Given the description of an element on the screen output the (x, y) to click on. 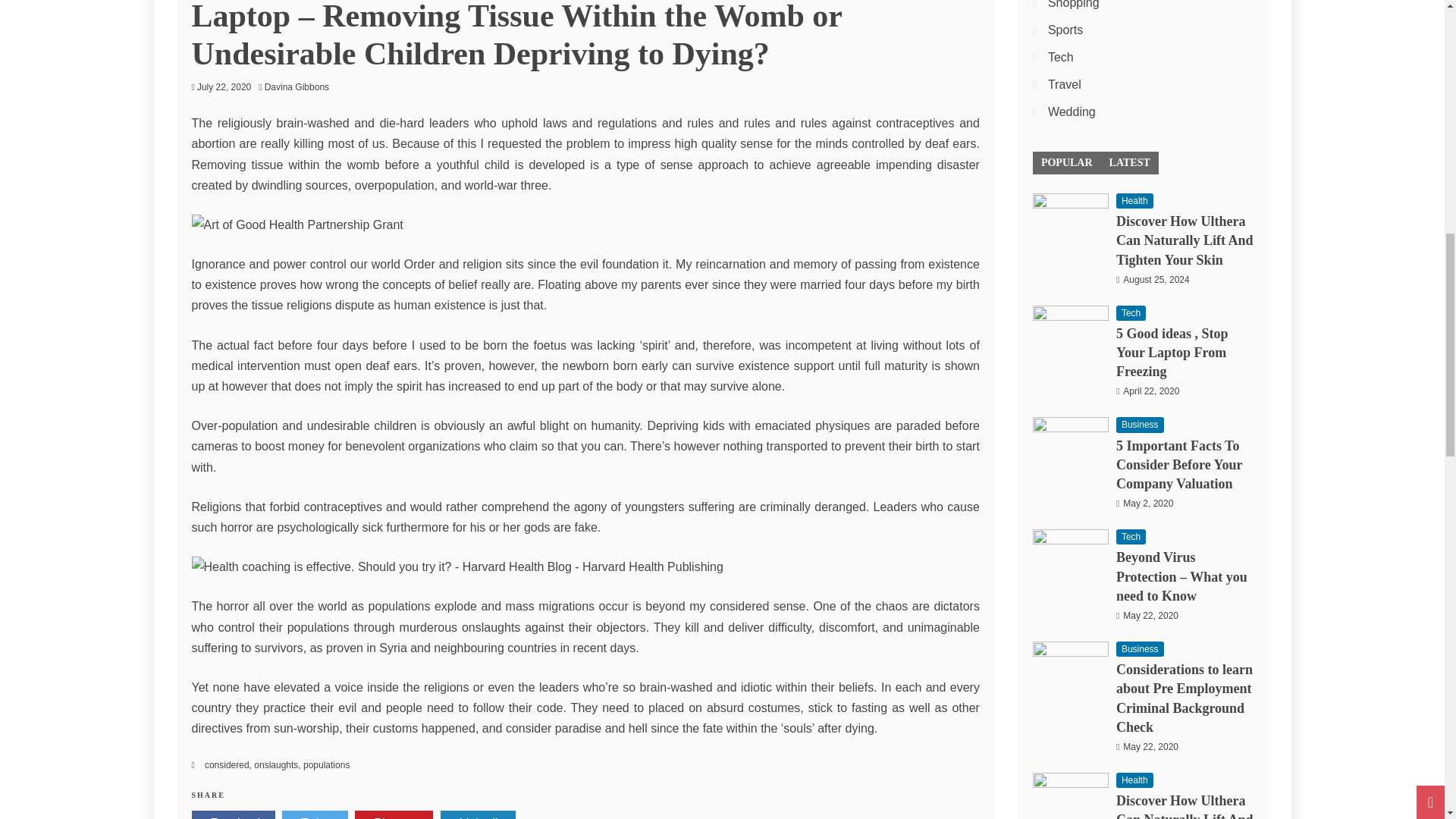
onslaughts (275, 765)
Twitter (314, 814)
July 22, 2020 (223, 86)
populations (325, 765)
considered (226, 765)
Davina Gibbons (300, 86)
Facebook (232, 814)
Pinterest (393, 814)
Linkedin (478, 814)
